Given the description of an element on the screen output the (x, y) to click on. 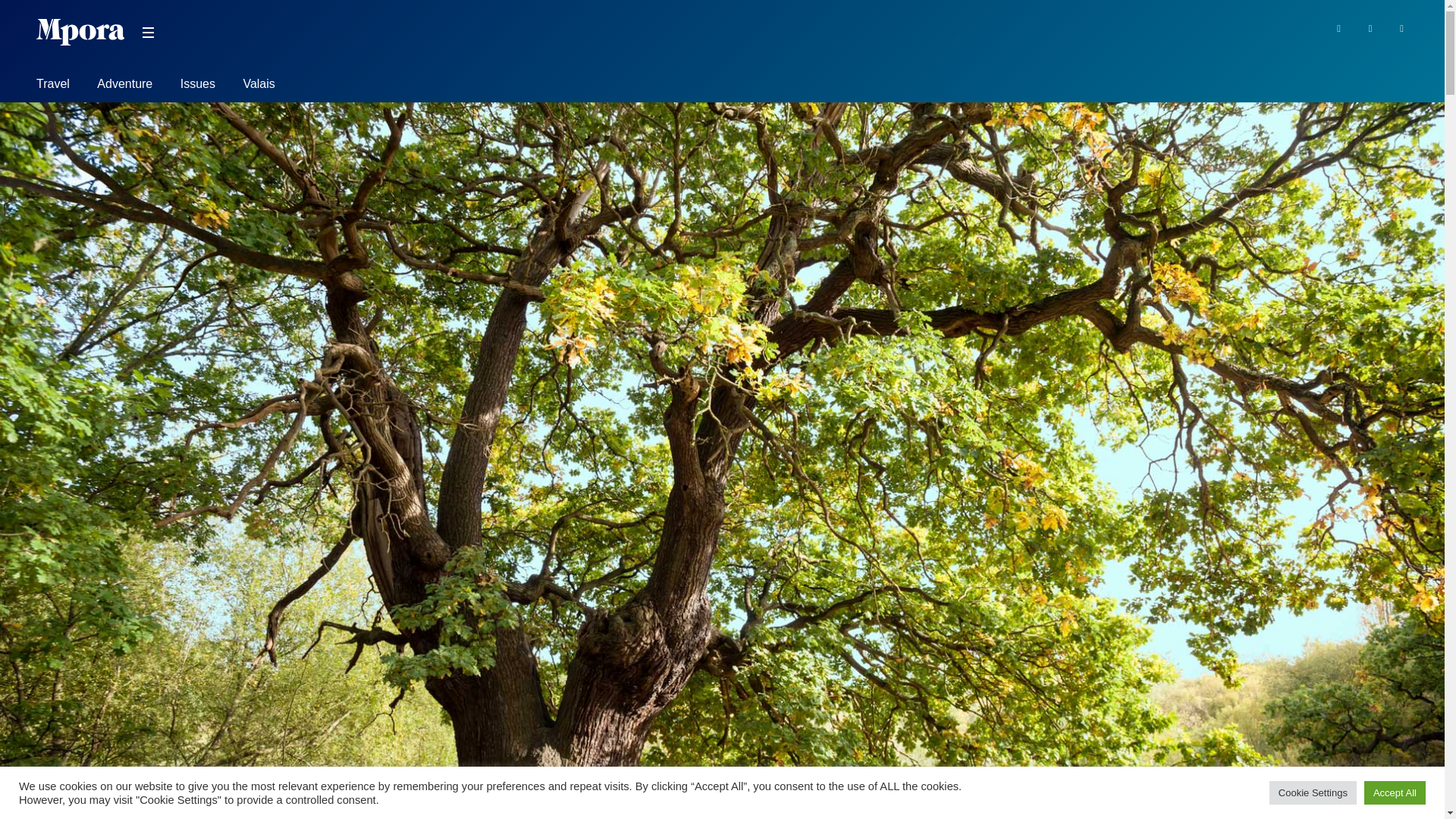
Follow us on Twitter (1370, 27)
Travel (52, 85)
Issues (197, 85)
Adventure (124, 85)
Find us on Instagram (1400, 27)
Menu (147, 32)
Find us on Facebook (1338, 27)
Valais (259, 85)
